Given the description of an element on the screen output the (x, y) to click on. 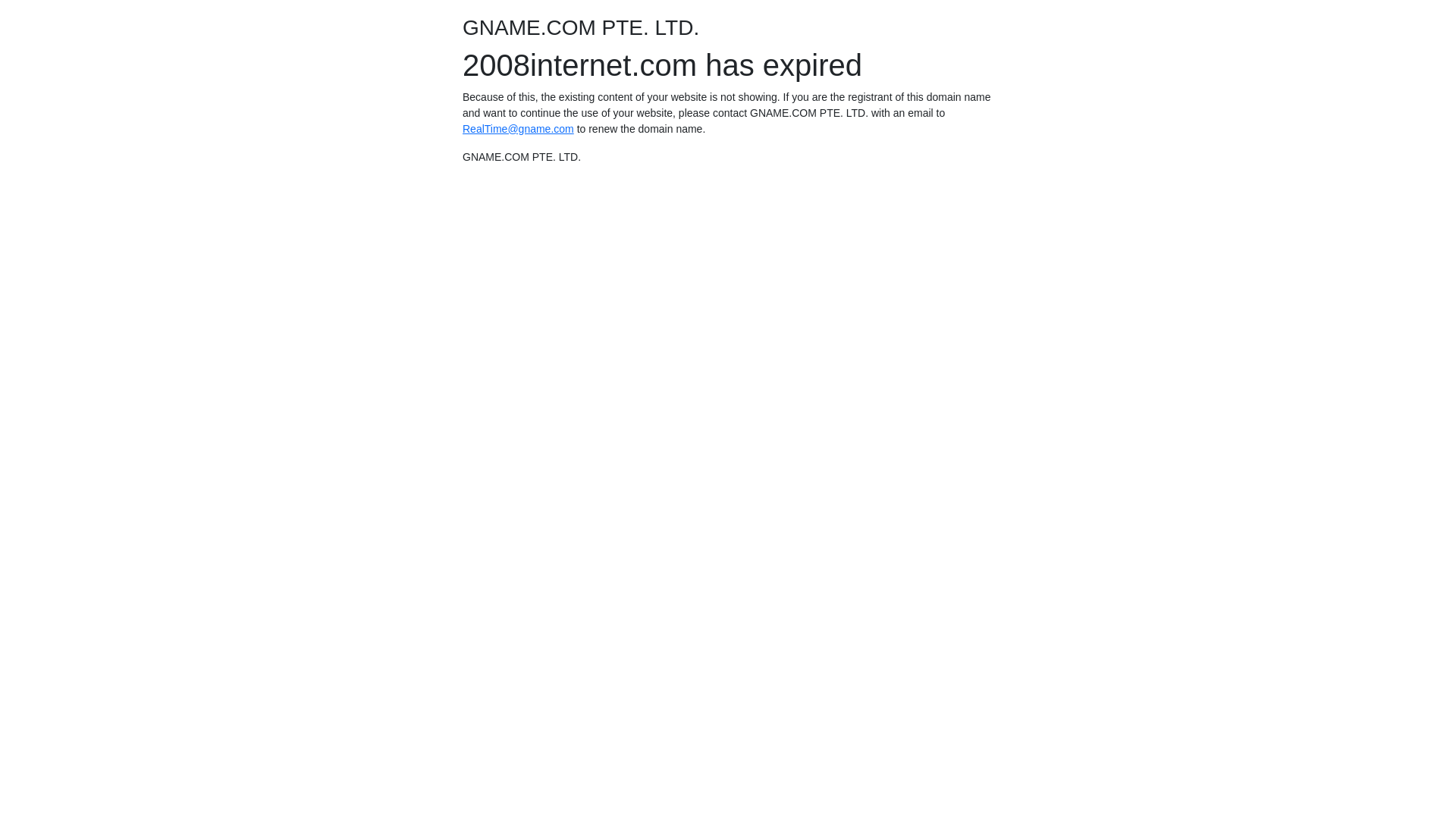
RealTime@gname.com Element type: text (518, 128)
